Given the description of an element on the screen output the (x, y) to click on. 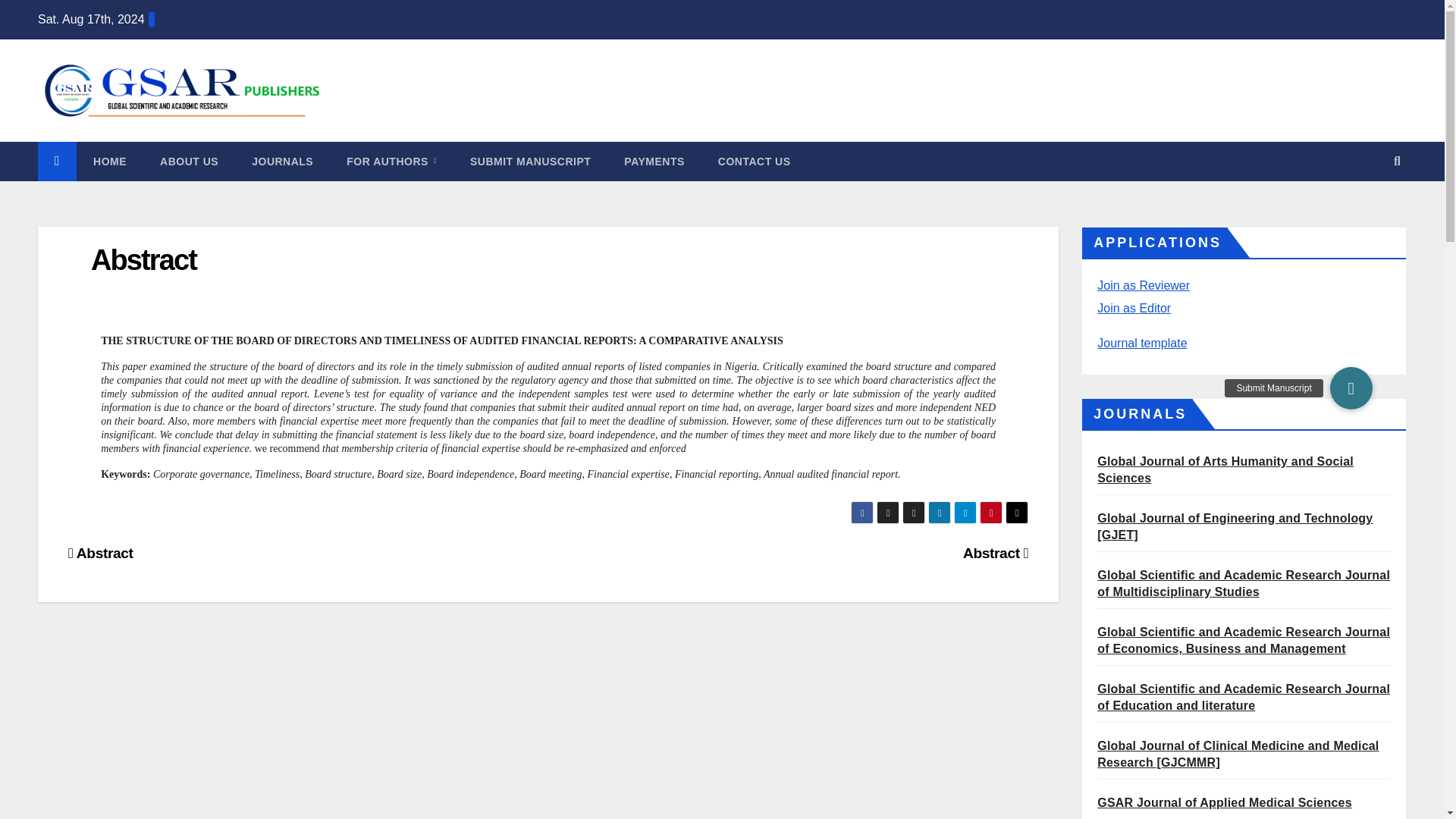
Global Journal of Arts Humanity and Social Sciences (1225, 469)
JOURNALS (282, 160)
SUBMIT MANUSCRIPT (529, 160)
ABOUT US (188, 160)
Abstract (143, 260)
FOR AUTHORS (391, 160)
CONTACT US (754, 160)
Join as Reviewer (1143, 285)
JOURNALS (282, 160)
